Given the description of an element on the screen output the (x, y) to click on. 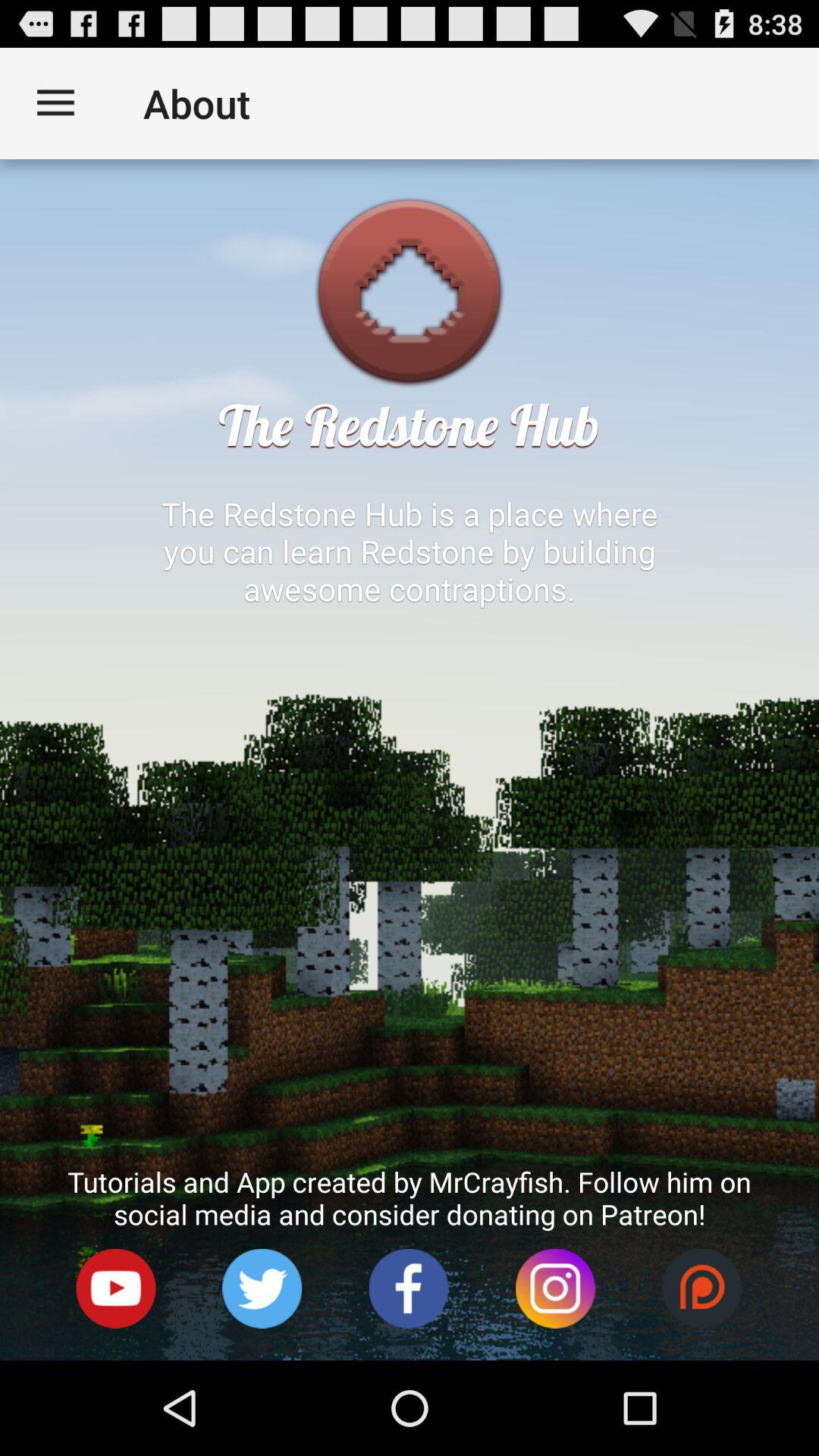
turn off icon below the tutorials and app item (702, 1288)
